Given the description of an element on the screen output the (x, y) to click on. 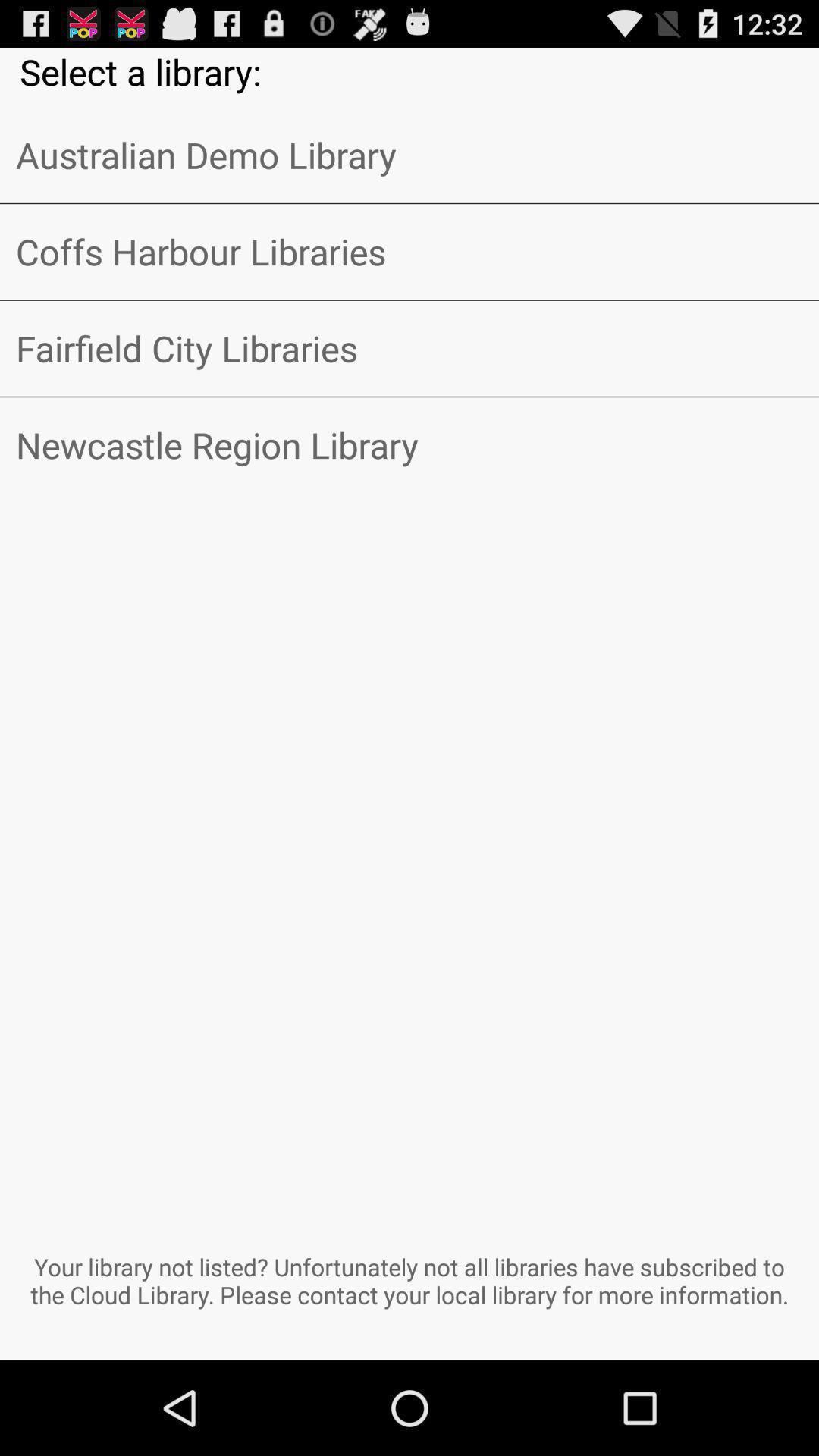
open the item above the newcastle region library icon (409, 348)
